Given the description of an element on the screen output the (x, y) to click on. 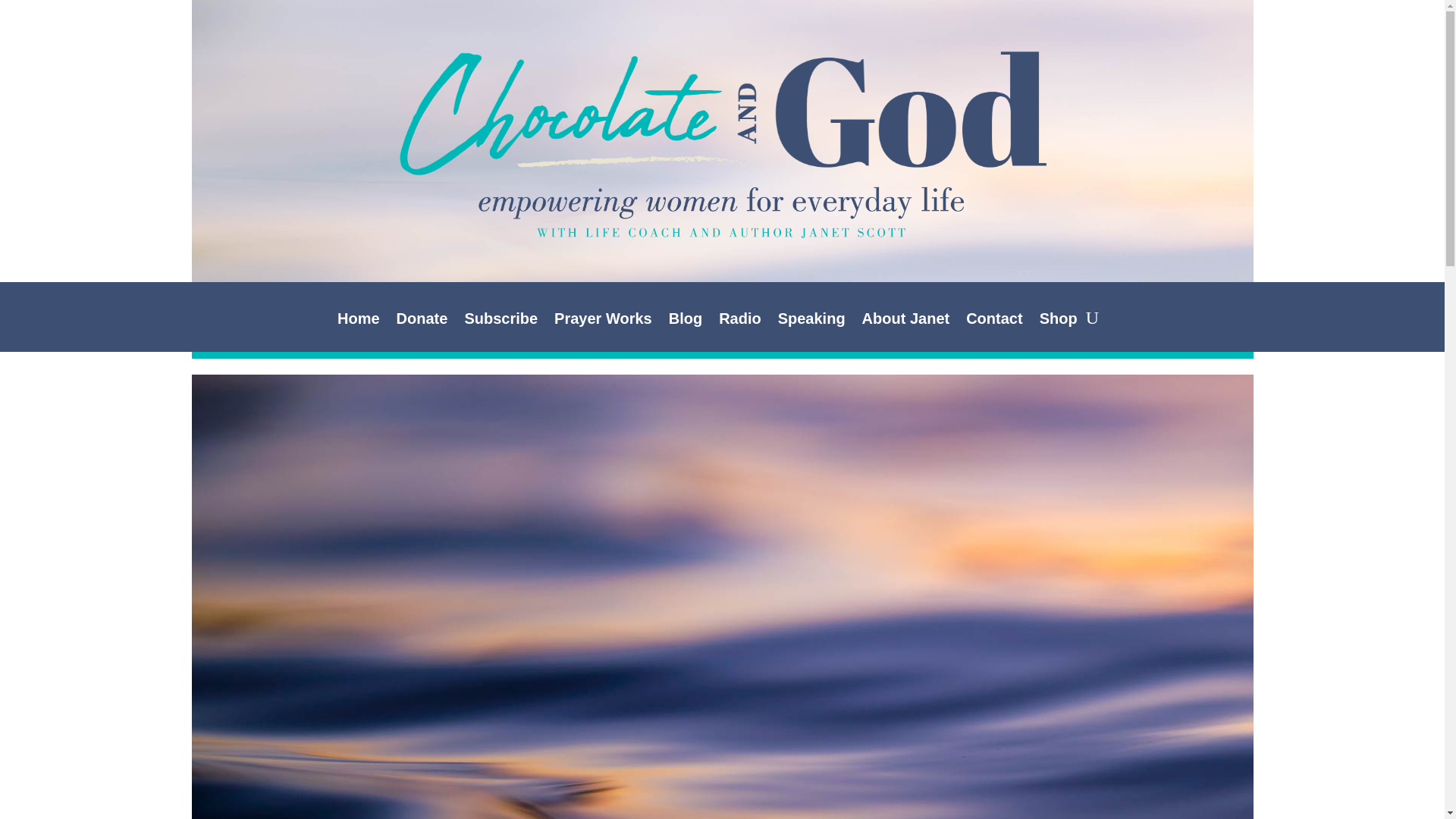
main-logo (721, 111)
Radio (740, 321)
About Janet (905, 321)
Home (358, 321)
Blog (684, 321)
Prayer Works (603, 321)
Shop (1058, 321)
Subscribe (500, 321)
tagline (722, 212)
Contact (994, 321)
Speaking (811, 321)
Donate (422, 321)
